Given the description of an element on the screen output the (x, y) to click on. 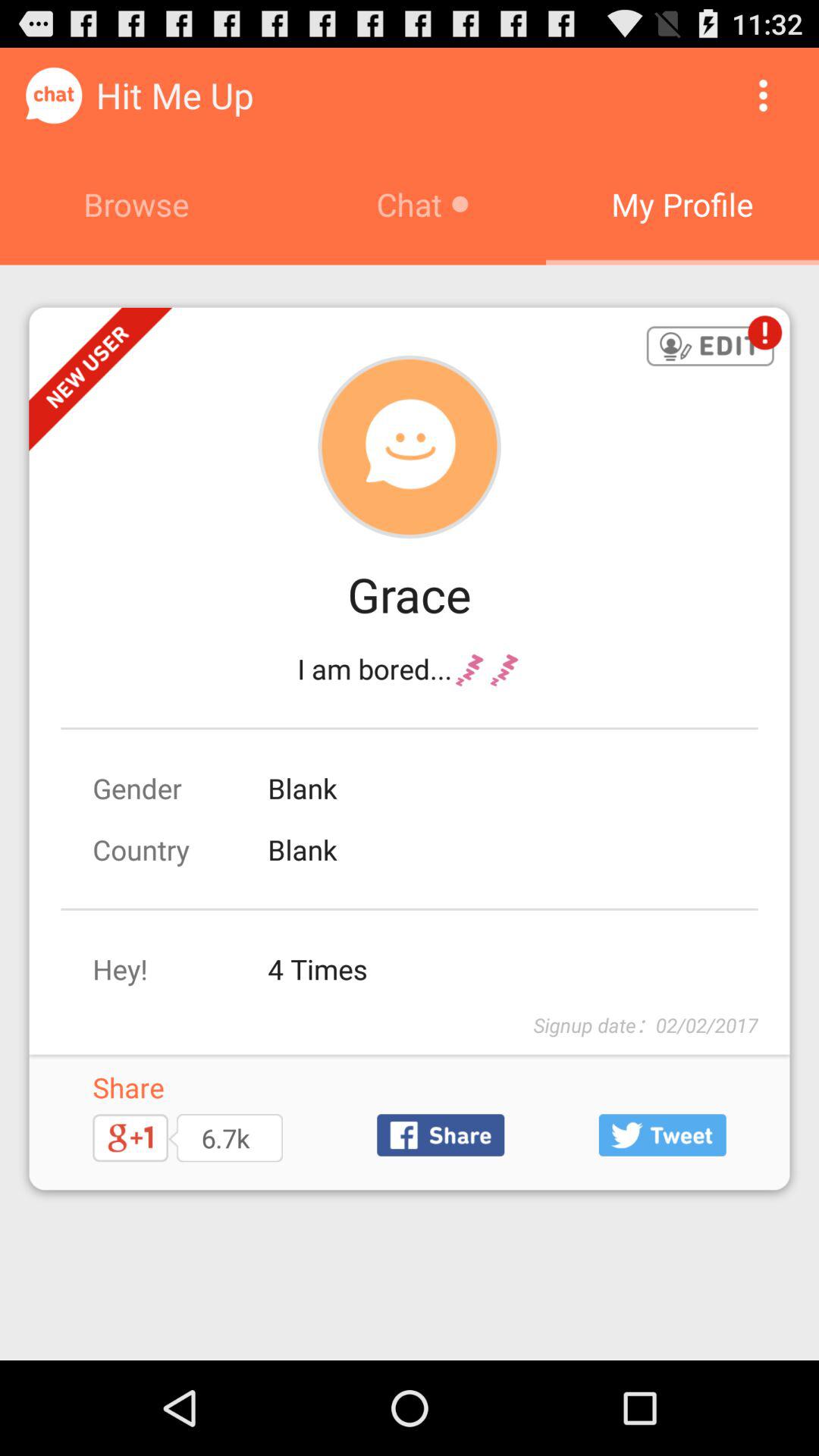
toggle edit user (709, 347)
